Given the description of an element on the screen output the (x, y) to click on. 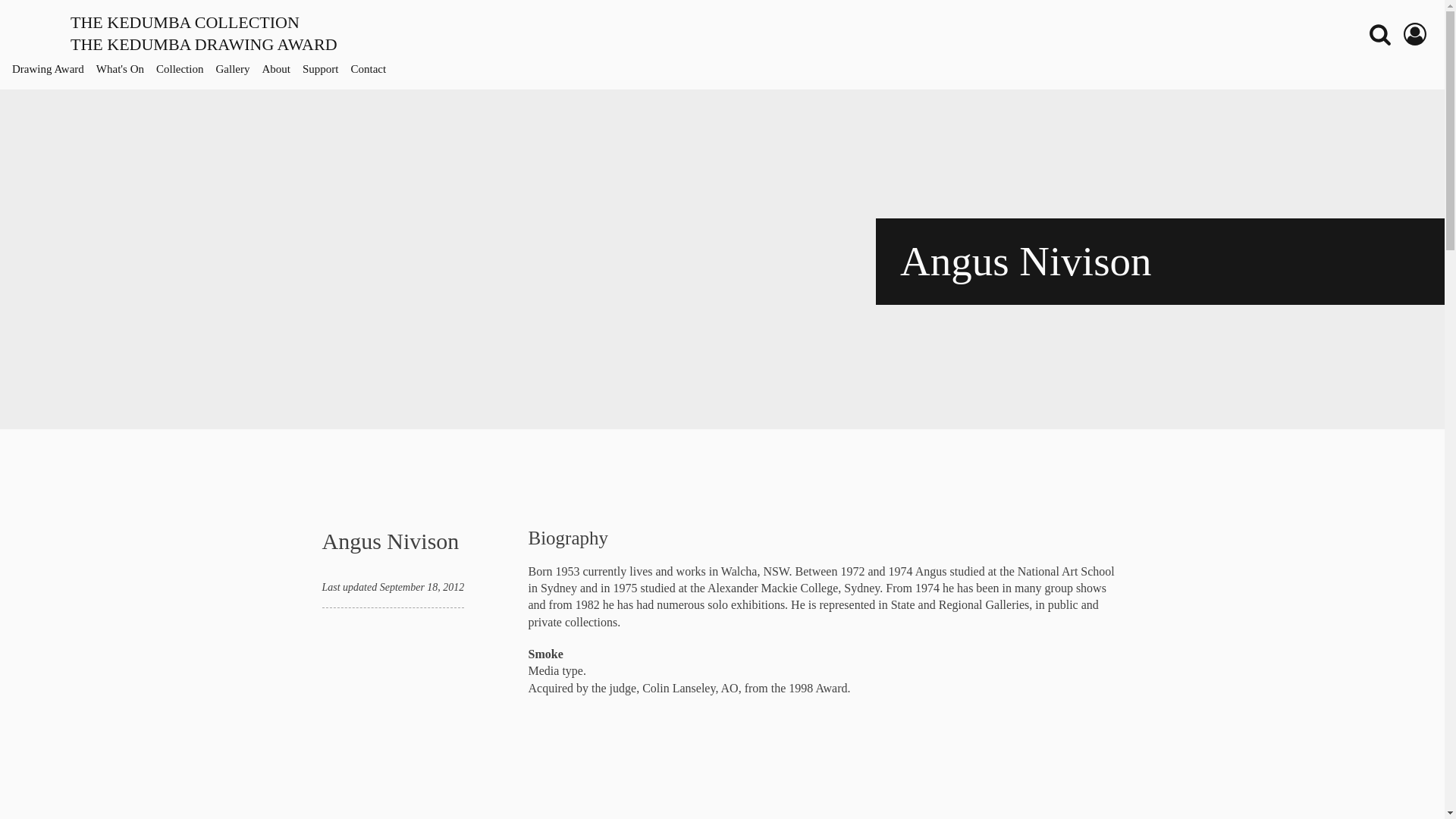
Collection (185, 68)
Contact (373, 68)
Search (1379, 33)
Gallery (238, 68)
Support (174, 33)
Drawing Award (326, 68)
Login (53, 68)
What's On (1414, 33)
About (125, 68)
